Given the description of an element on the screen output the (x, y) to click on. 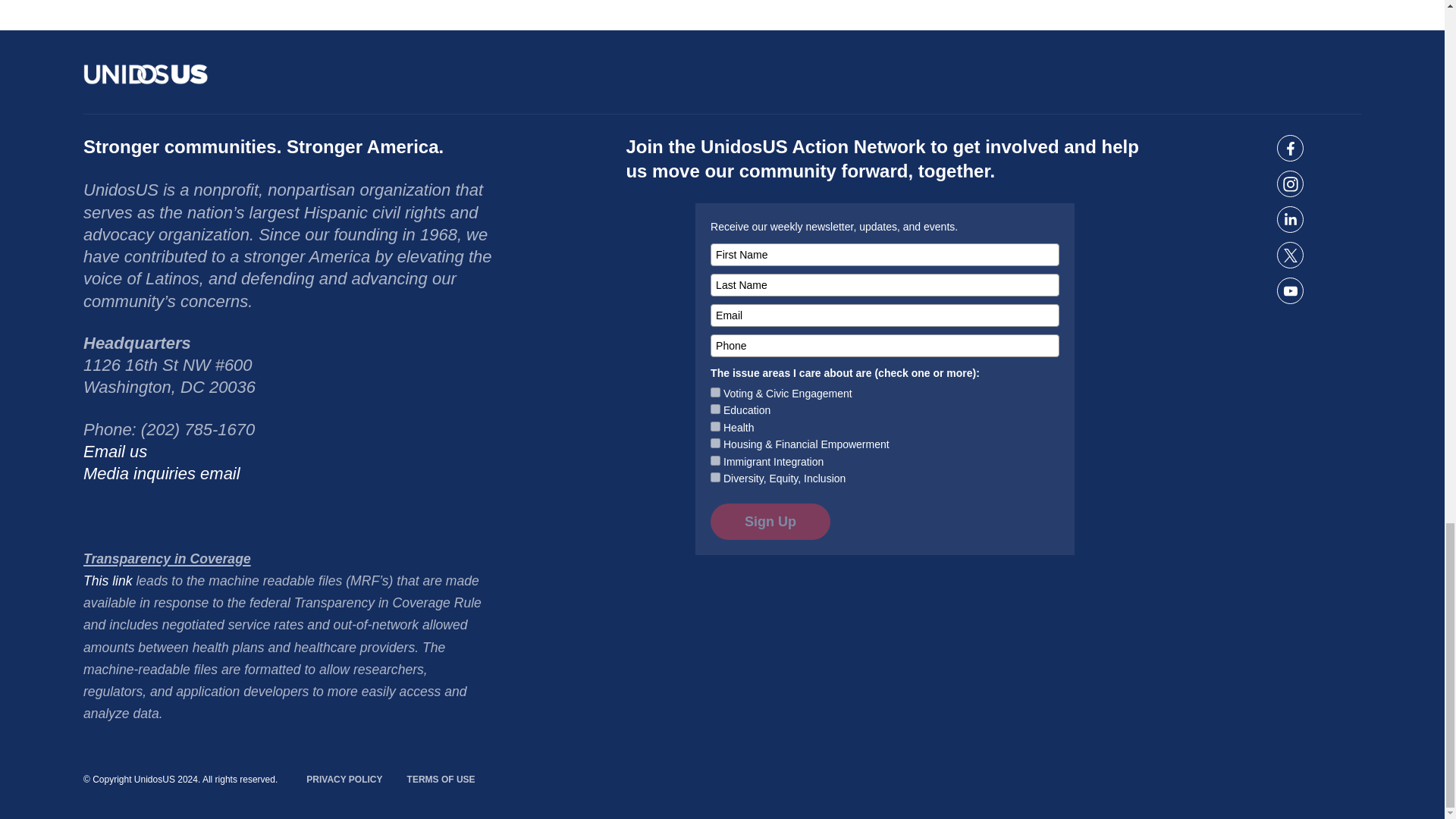
Health (715, 426)
Sign Up (769, 521)
PRIVACY POLICY (344, 779)
This link (107, 580)
Immigrant Integration (715, 460)
Education (715, 409)
TERMS OF USE (440, 779)
Media inquiries email (161, 473)
Connect on X (1289, 254)
Connect on LinkedIn (1289, 219)
Diversity, Equity, Inclusion (715, 477)
Connect on Facebook (1289, 148)
Connect on YouTube (1289, 290)
Email us (114, 451)
Connect on Instagram (1289, 183)
